Given the description of an element on the screen output the (x, y) to click on. 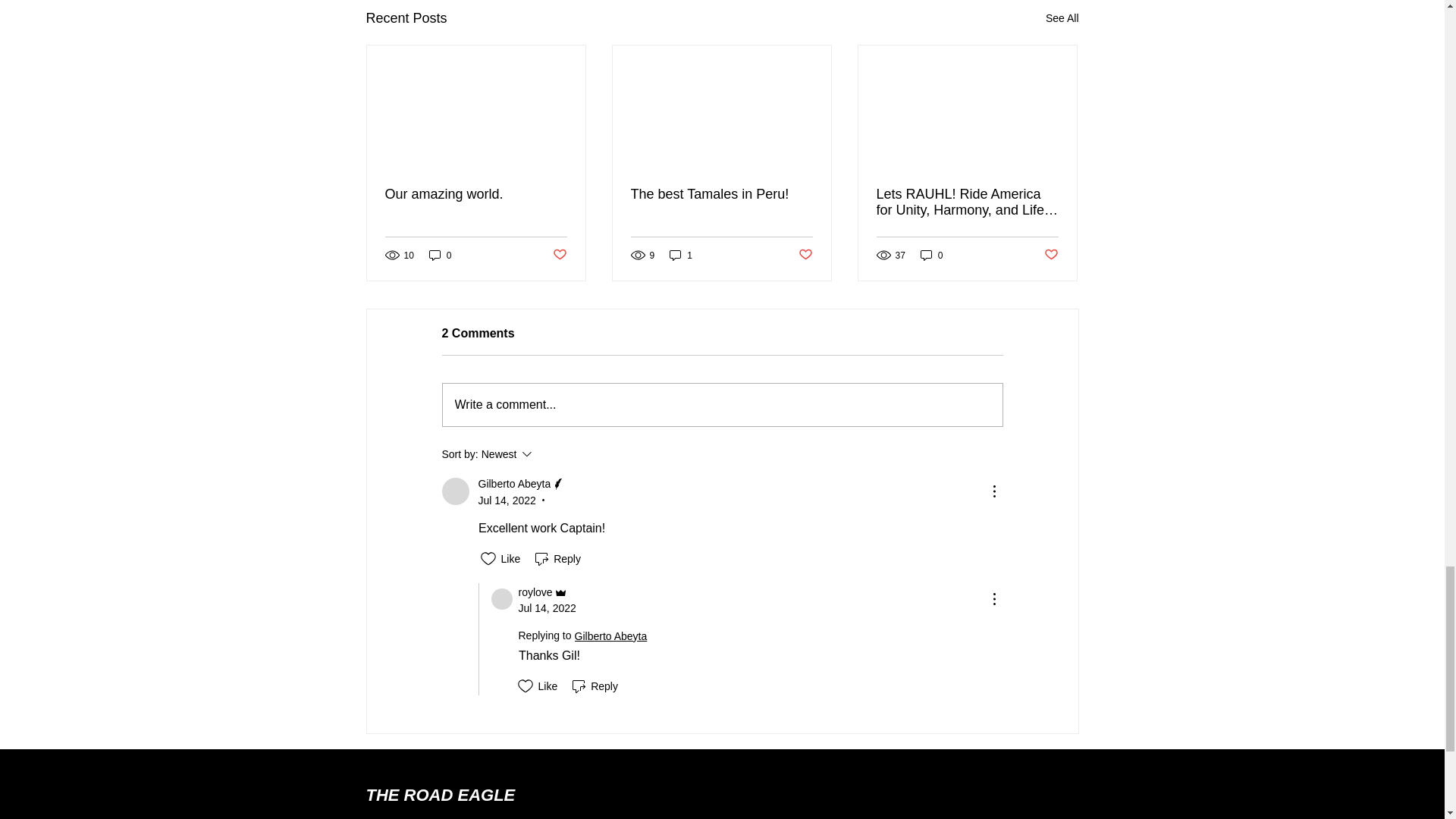
Gilberto Abeyta (454, 491)
roylove (502, 598)
The best Tamales in Peru! (721, 194)
Post not marked as liked (804, 254)
Our amazing world. (476, 194)
0 (440, 255)
Post not marked as liked (1050, 254)
See All (1061, 18)
Post not marked as liked (558, 254)
0 (931, 255)
1 (681, 255)
